Given the description of an element on the screen output the (x, y) to click on. 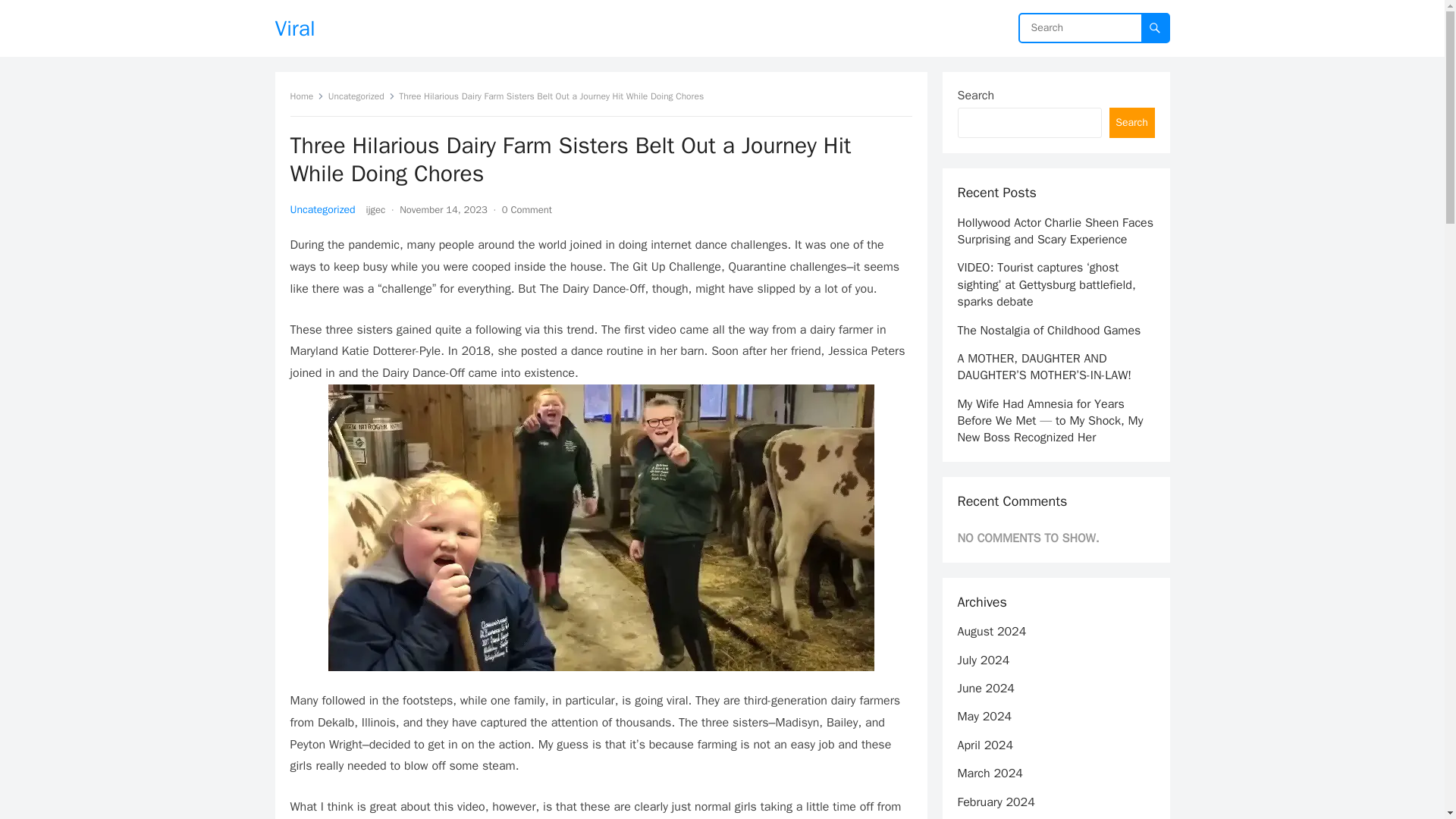
Home (306, 96)
Uncategorized (361, 96)
Posts by ijgec (375, 209)
Uncategorized (322, 209)
0 Comment (526, 209)
ijgec (375, 209)
